Given the description of an element on the screen output the (x, y) to click on. 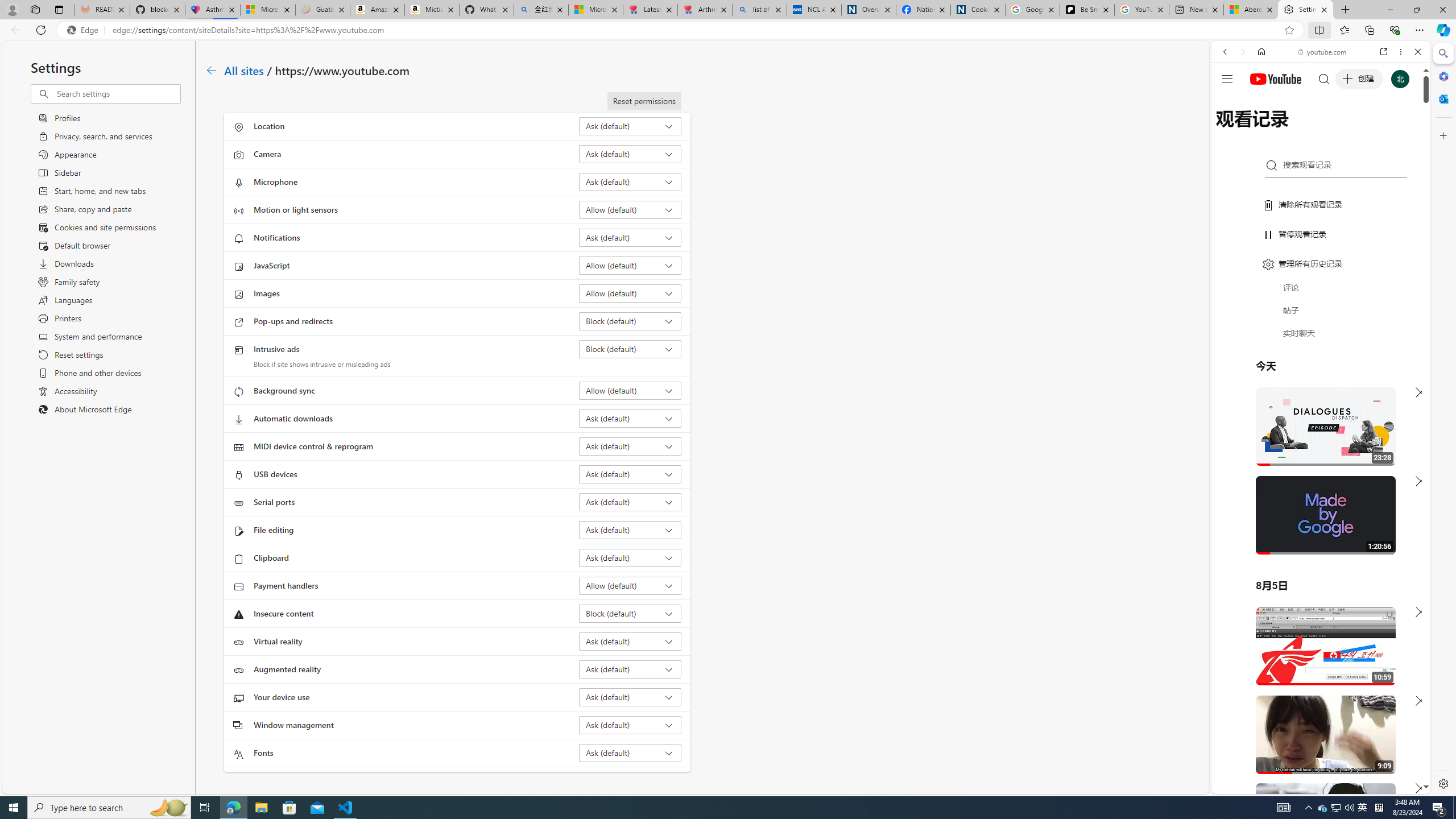
Payment handlers Allow (default) (630, 585)
Music (1320, 309)
Arthritis: Ask Health Professionals (704, 9)
Music (1320, 309)
IMAGES (1262, 130)
All sites (244, 69)
Search Filter, VIDEOS (1300, 129)
Google (1320, 281)
Clipboard Ask (default) (630, 557)
